Given the description of an element on the screen output the (x, y) to click on. 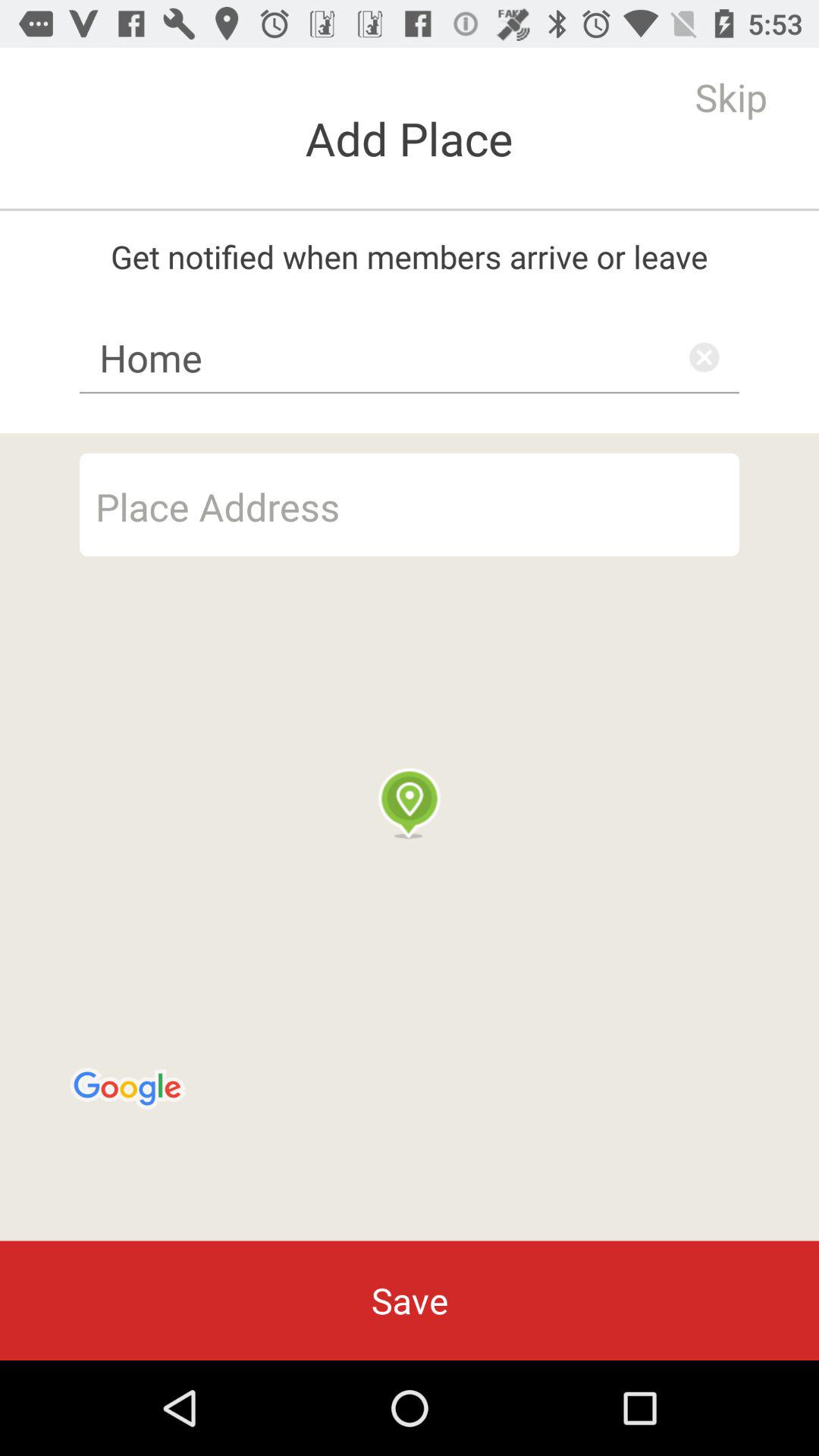
turn on the icon next to add place (731, 97)
